Given the description of an element on the screen output the (x, y) to click on. 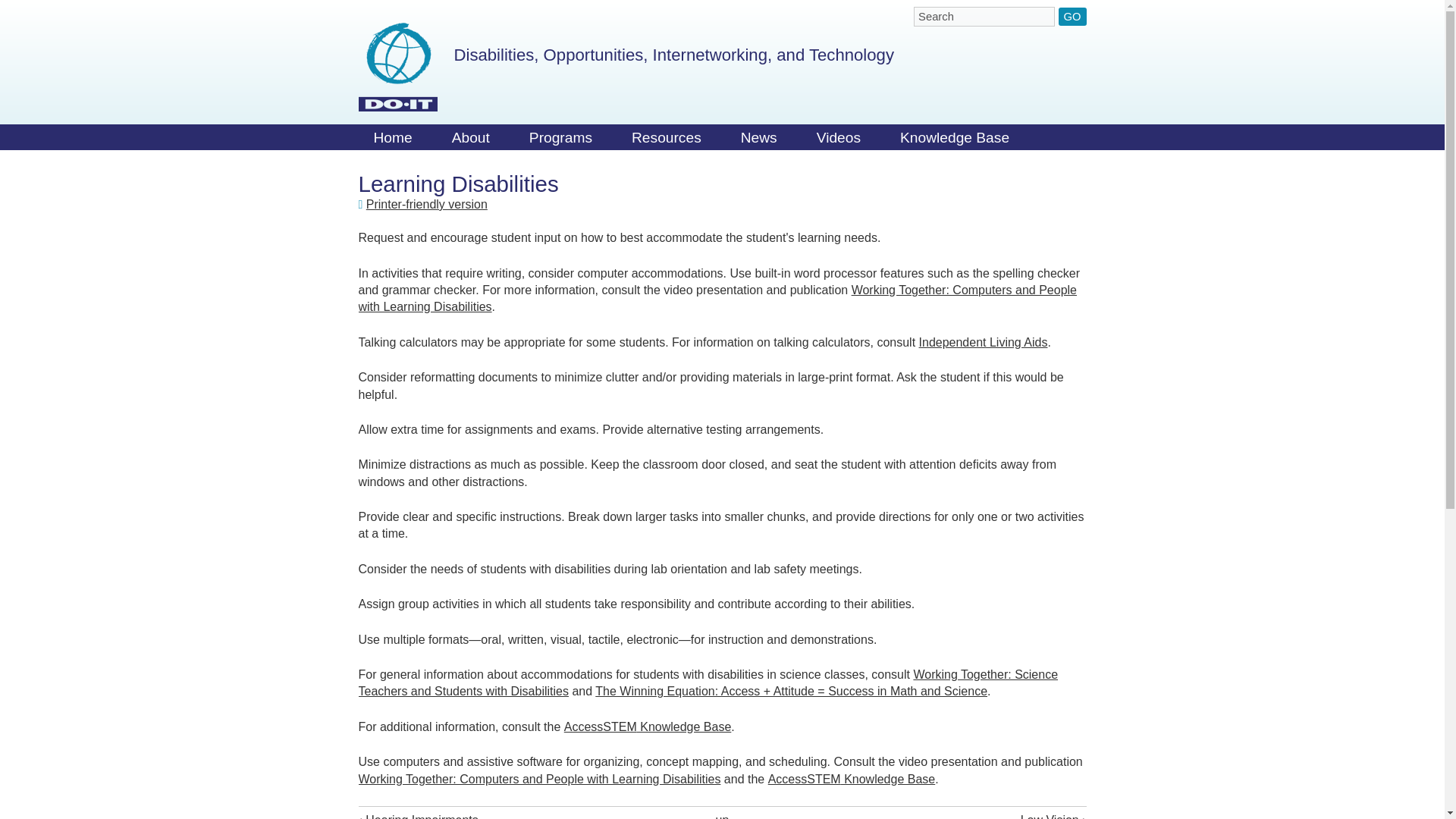
News (758, 140)
up (722, 816)
About (470, 140)
DO-IT (397, 66)
Search (984, 16)
Knowledge Base (955, 140)
Enter the terms you wish to search for. (984, 16)
